Given the description of an element on the screen output the (x, y) to click on. 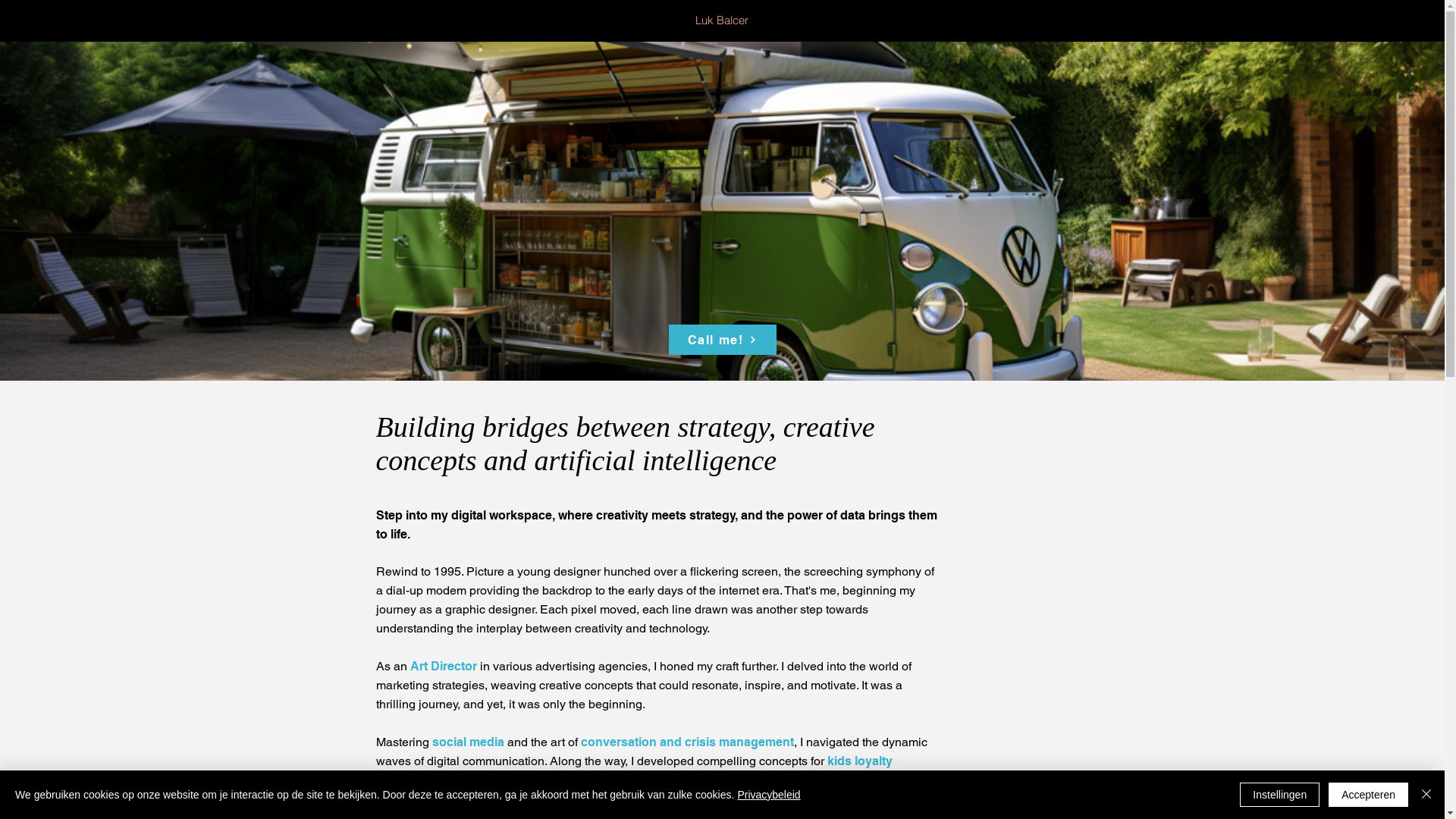
Privacybeleid Element type: text (768, 794)
Instellingen Element type: text (1279, 794)
Accepteren Element type: text (1368, 794)
Call me! Element type: text (722, 339)
Luk Balcer Element type: text (721, 20)
